Given the description of an element on the screen output the (x, y) to click on. 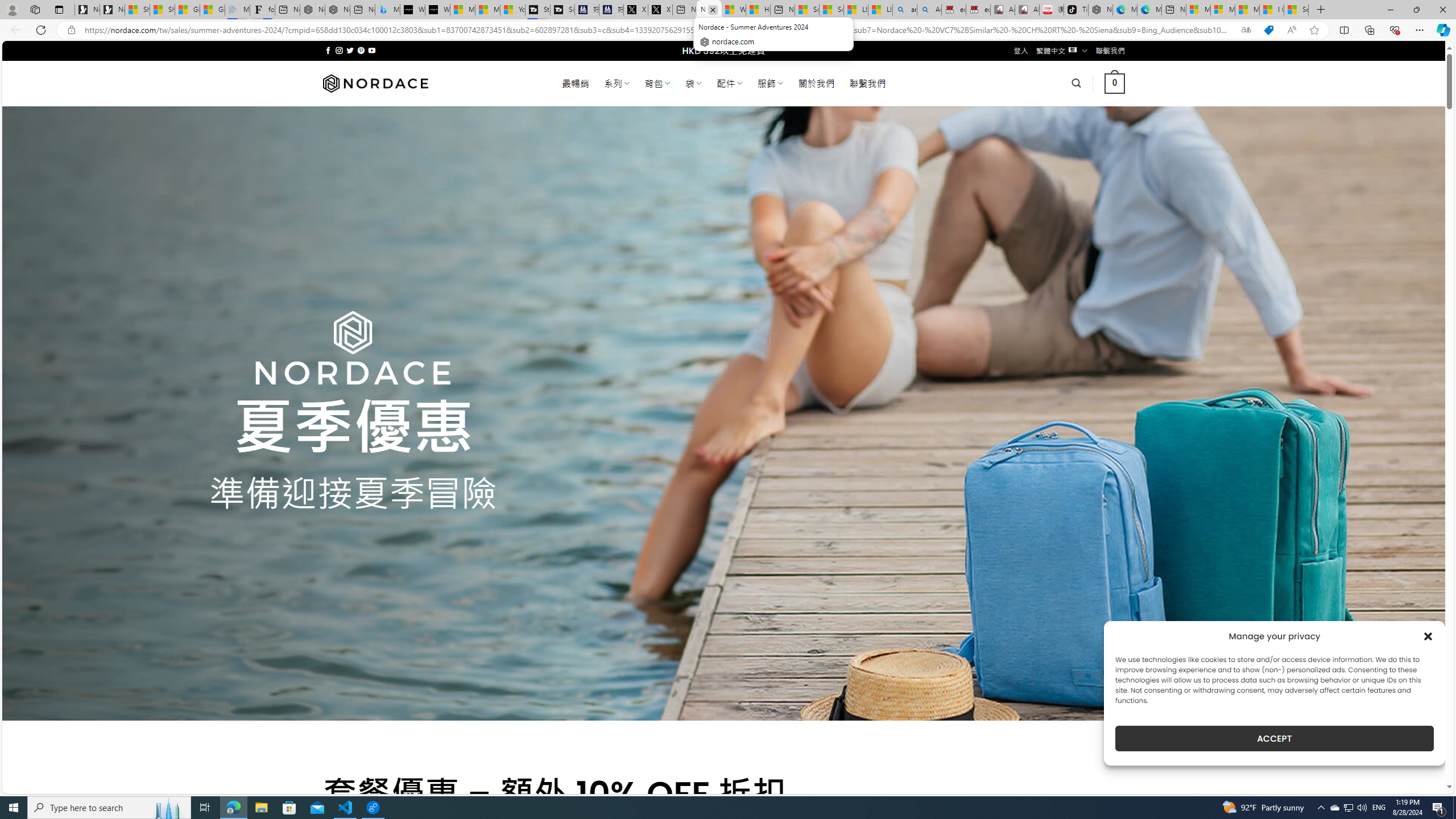
Microsoft Bing Travel - Shangri-La Hotel Bangkok (386, 9)
Follow on Pinterest (360, 50)
Follow on Instagram (338, 50)
Newsletter Sign Up (111, 9)
  0   (1115, 83)
Nordace - Best Sellers (1100, 9)
